Given the description of an element on the screen output the (x, y) to click on. 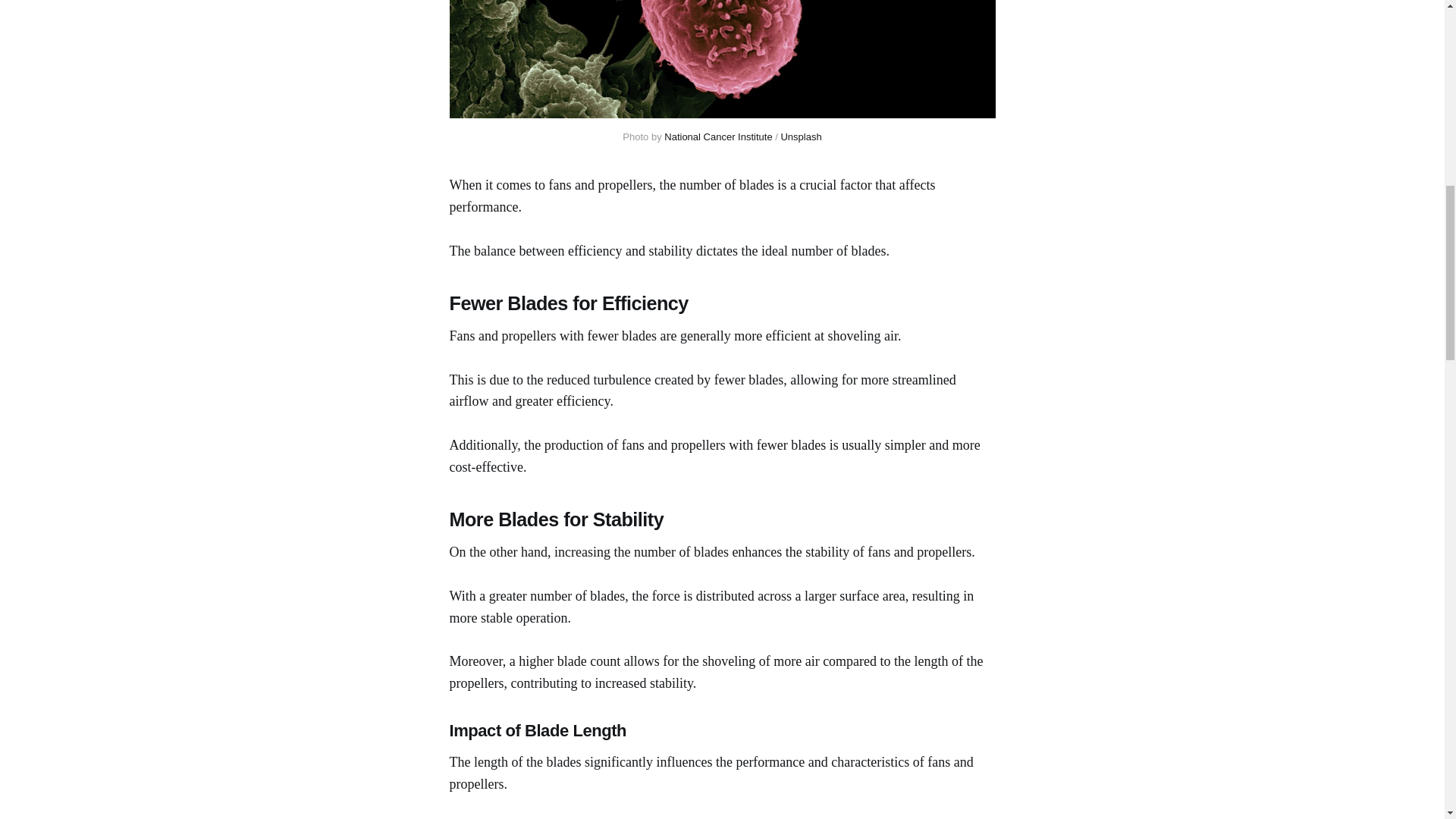
Unsplash (800, 136)
National Cancer Institute (717, 136)
